Given the description of an element on the screen output the (x, y) to click on. 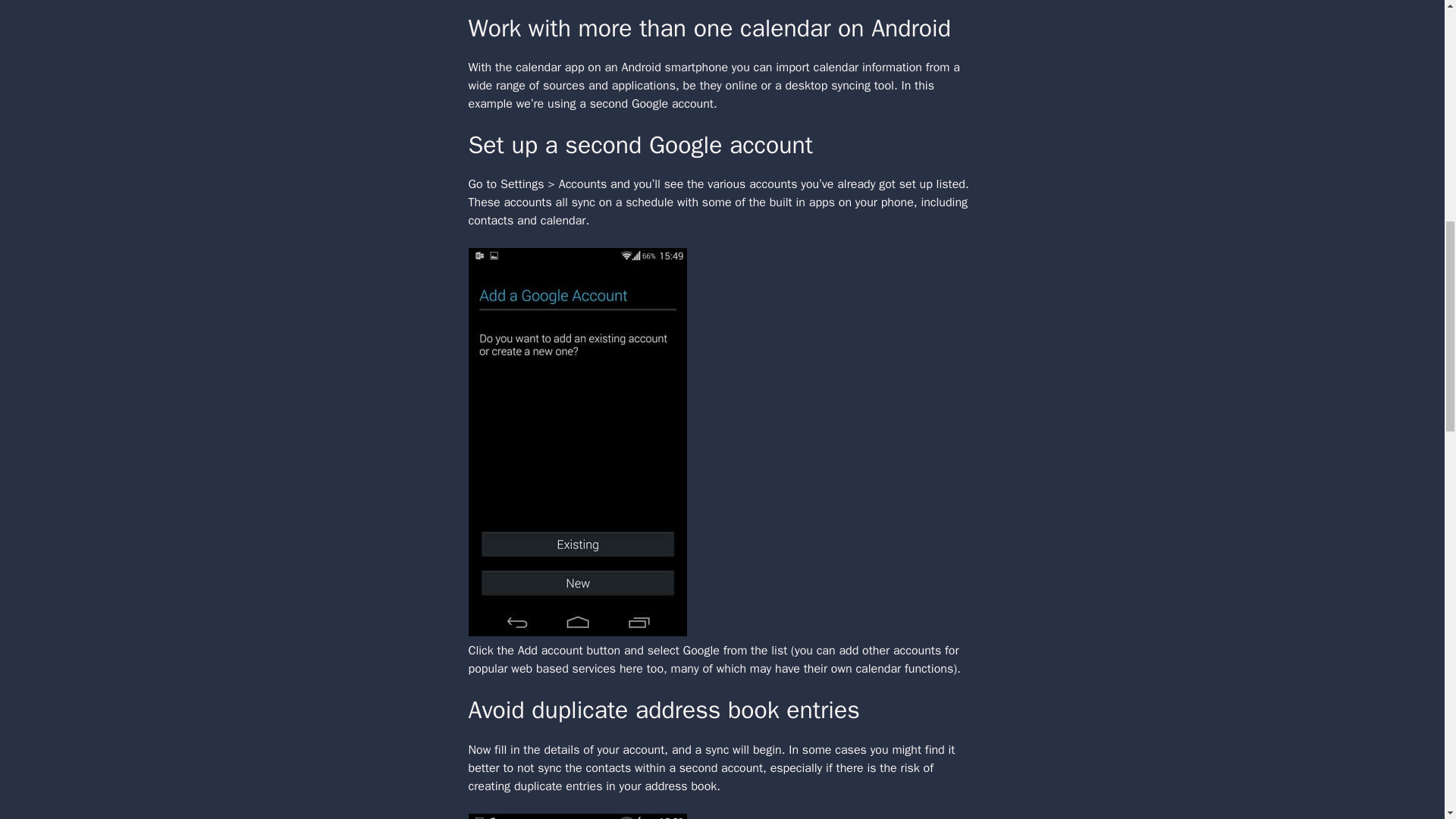
sync google.jpg (577, 816)
